Given the description of an element on the screen output the (x, y) to click on. 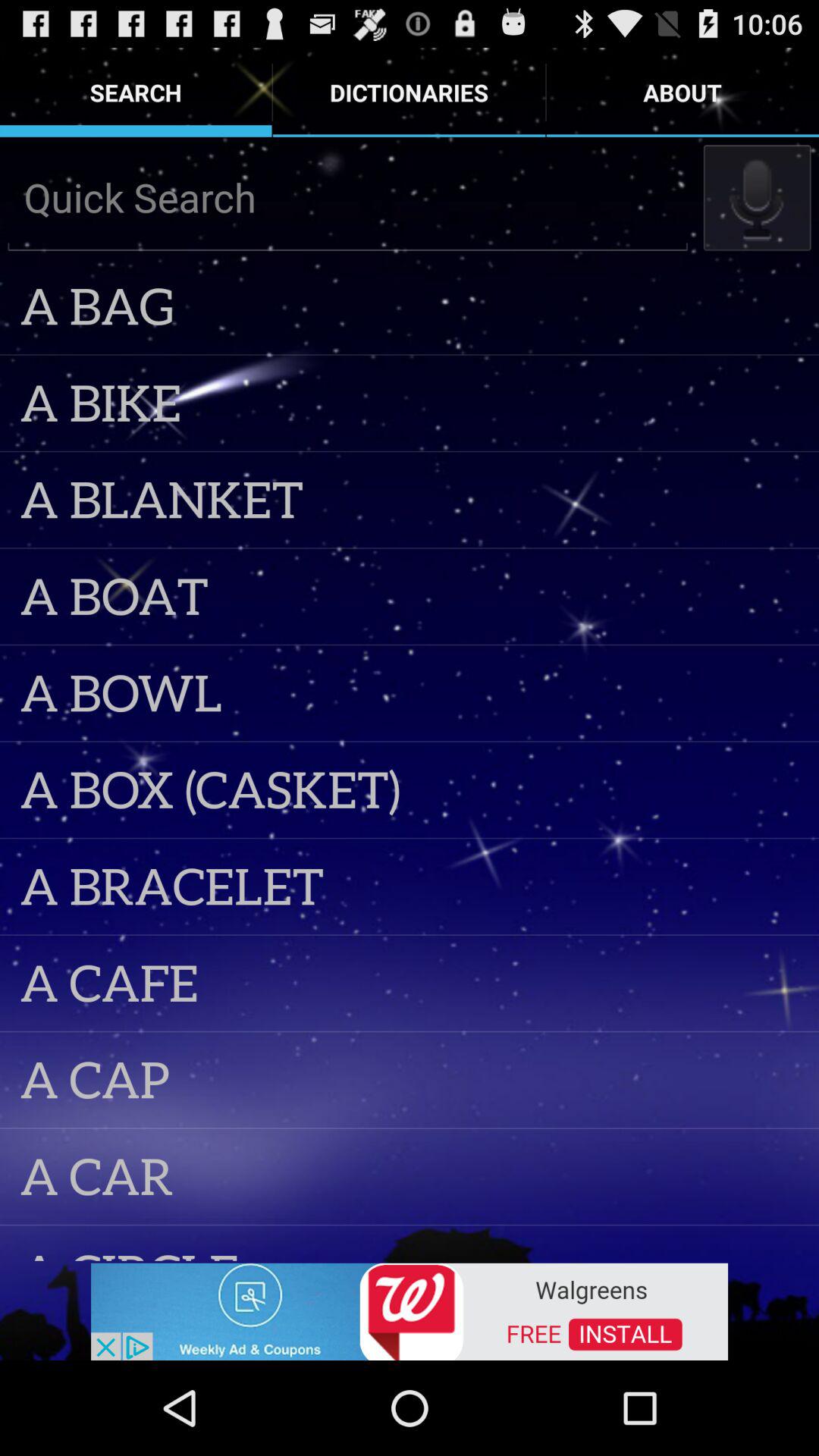
write what to search (347, 197)
